Given the description of an element on the screen output the (x, y) to click on. 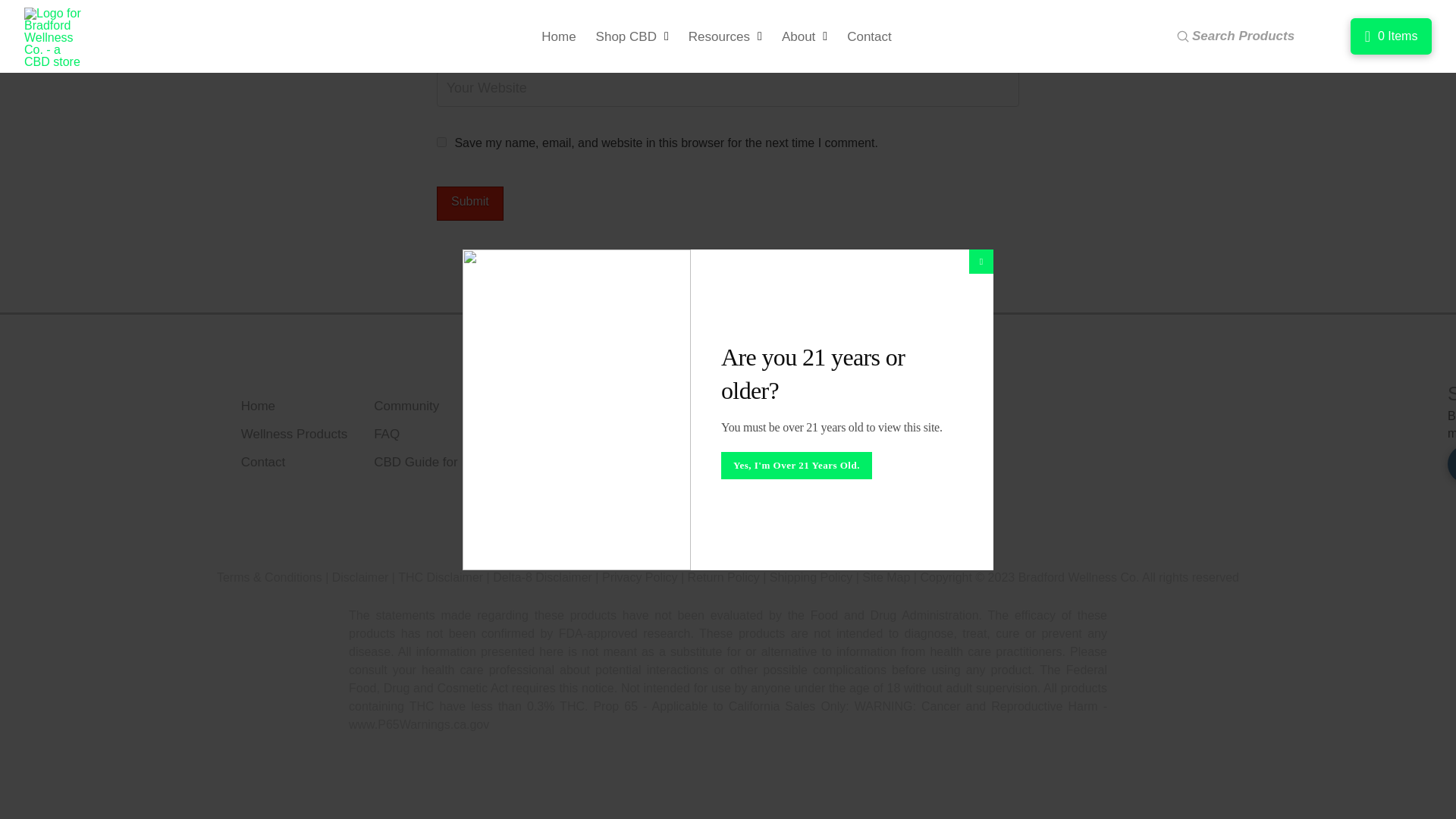
Submit (469, 203)
